Given the description of an element on the screen output the (x, y) to click on. 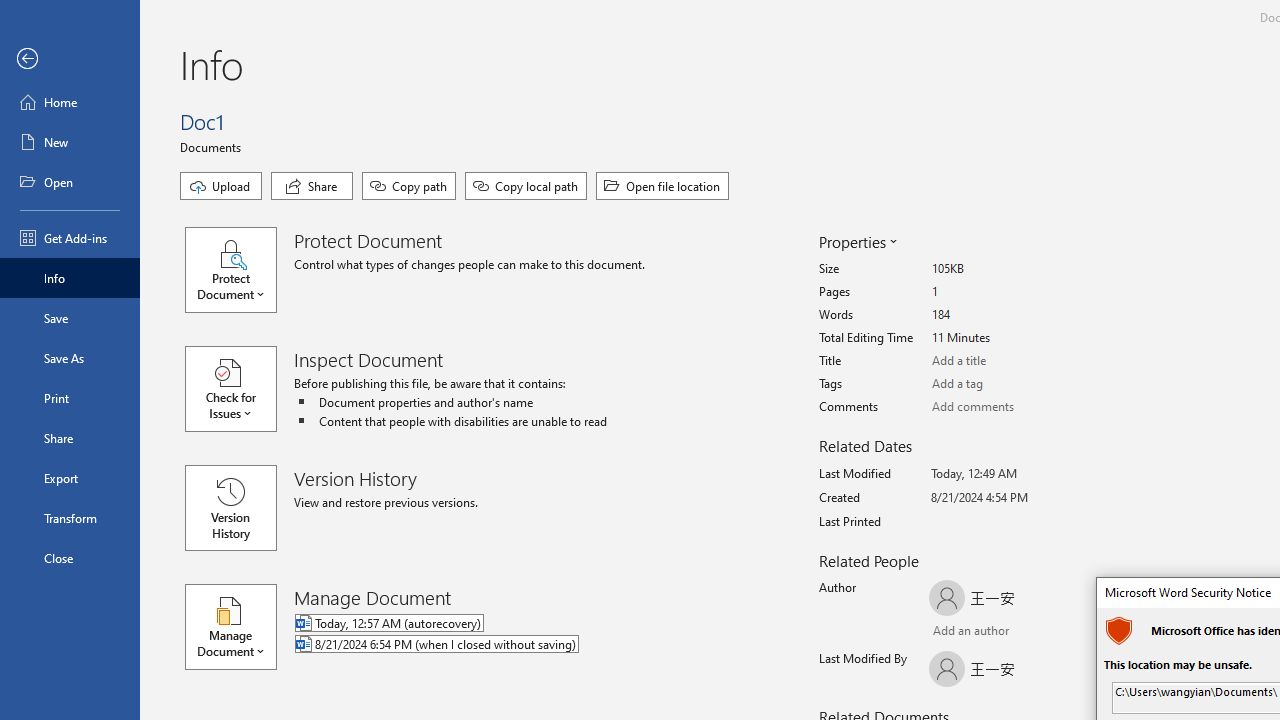
 8/21/2024 6:54 PM (when I closed without saving) (518, 645)
Copy local path (525, 186)
Version History (230, 507)
Back (69, 59)
Upload (221, 186)
Protect Document (239, 269)
Copy path (408, 186)
Properties (856, 241)
Check for Issues (239, 389)
 Today, 12:57 AM (autorecovery) (518, 624)
